Given the description of an element on the screen output the (x, y) to click on. 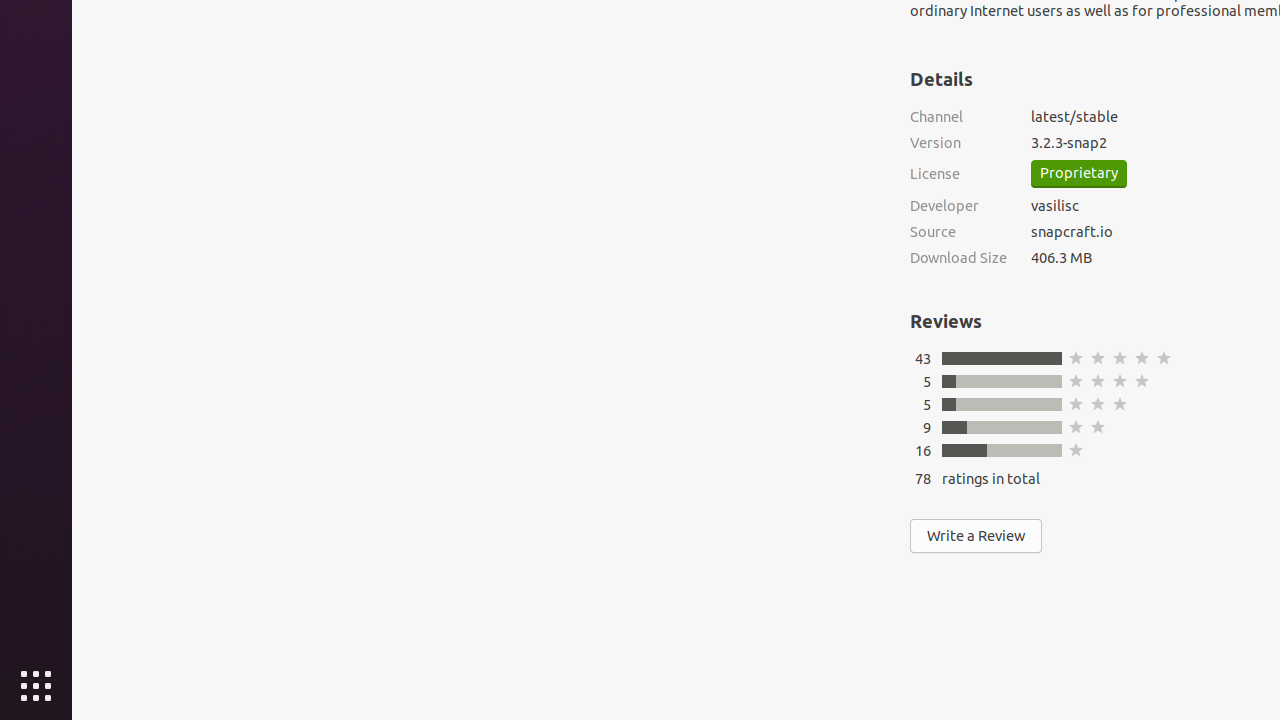
ratings in total Element type: label (991, 478)
Proprietary Element type: push-button (1079, 174)
16 Element type: label (923, 450)
Channel Element type: label (958, 116)
